Given the description of an element on the screen output the (x, y) to click on. 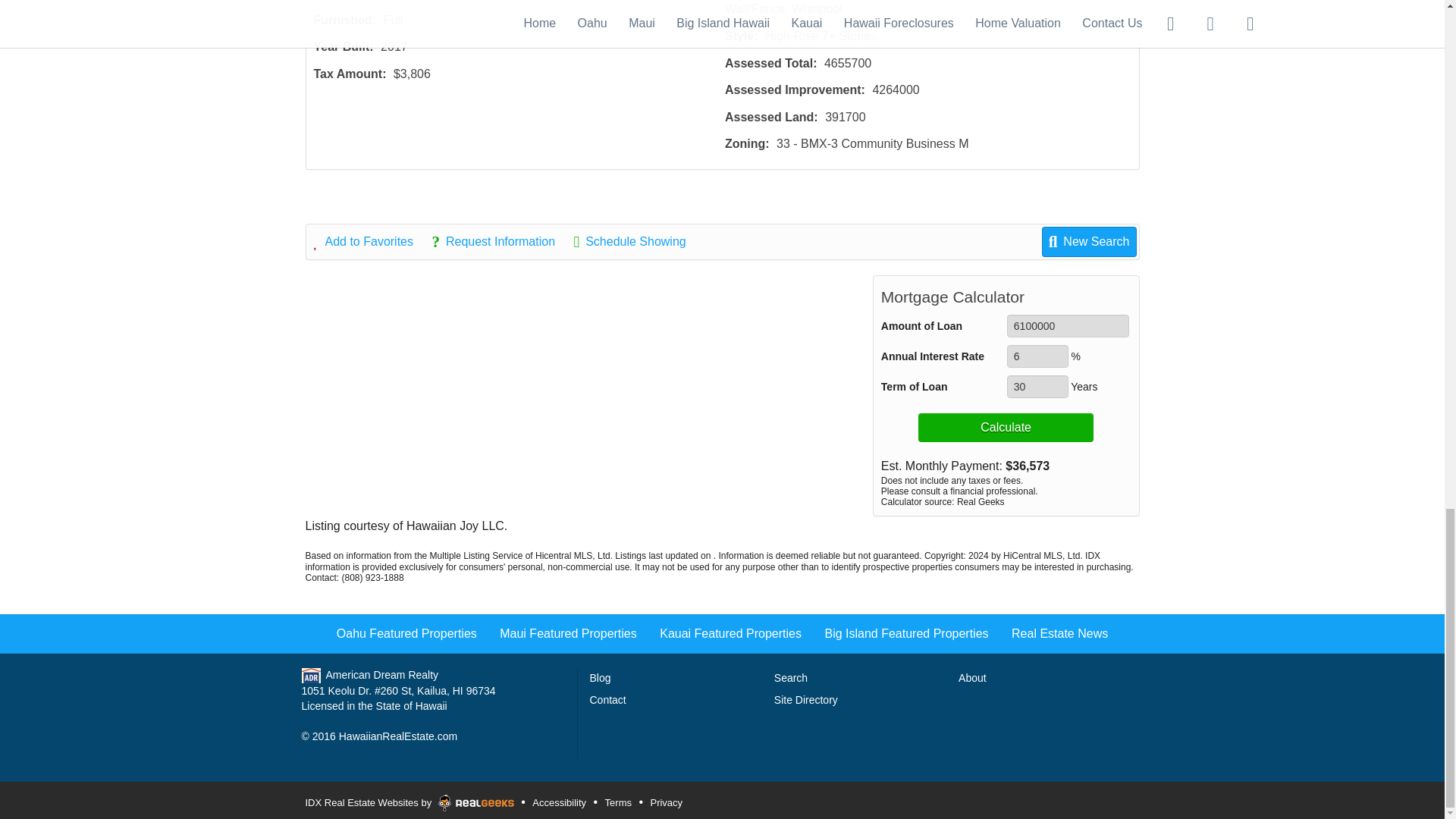
30 (1037, 386)
6 (1037, 355)
6100000 (1068, 325)
